Given the description of an element on the screen output the (x, y) to click on. 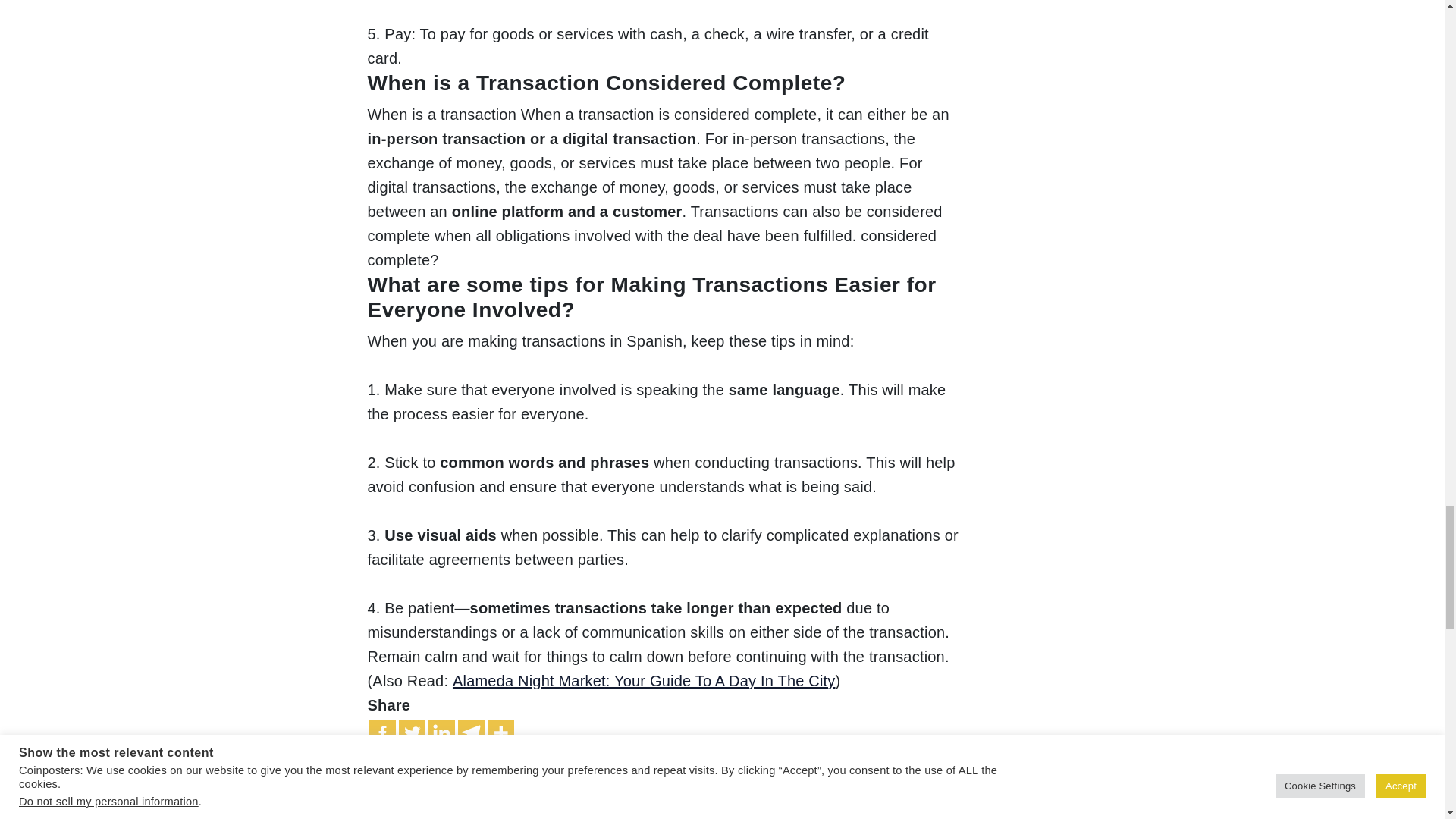
Linkedin (441, 732)
Telegram (471, 732)
Alameda Night Market: Your Guide To A Day In The City (643, 680)
Facebook (381, 732)
More (499, 732)
Twitter (411, 732)
